Given the description of an element on the screen output the (x, y) to click on. 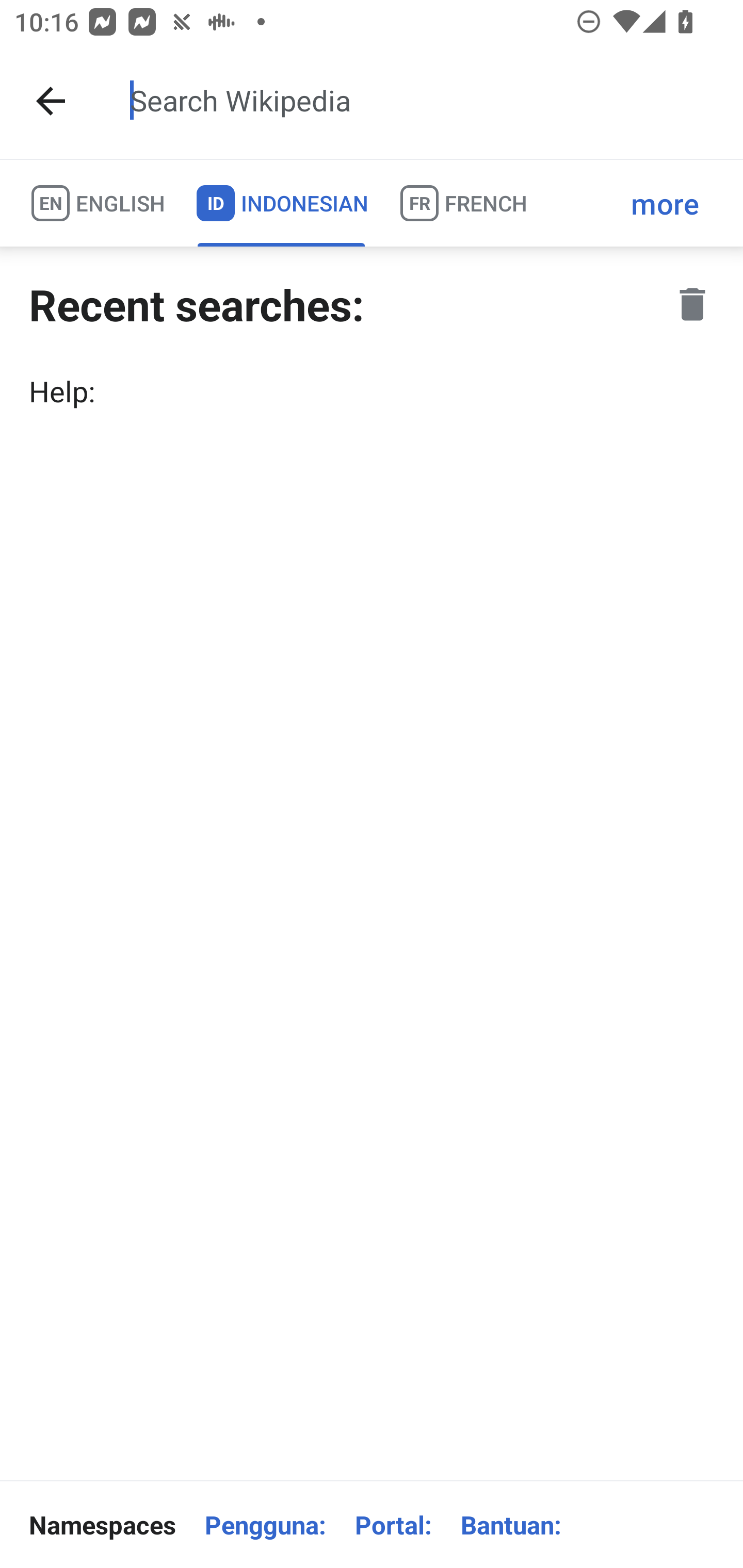
Navigate up (50, 101)
Search Wikipedia (420, 100)
EN ENGLISH (96, 202)
FR FRENCH (462, 202)
more (664, 202)
Clear history (692, 304)
Help: (371, 391)
Namespaces (102, 1524)
Pengguna: (265, 1524)
Portal: (393, 1524)
Bantuan: (510, 1524)
